Given the description of an element on the screen output the (x, y) to click on. 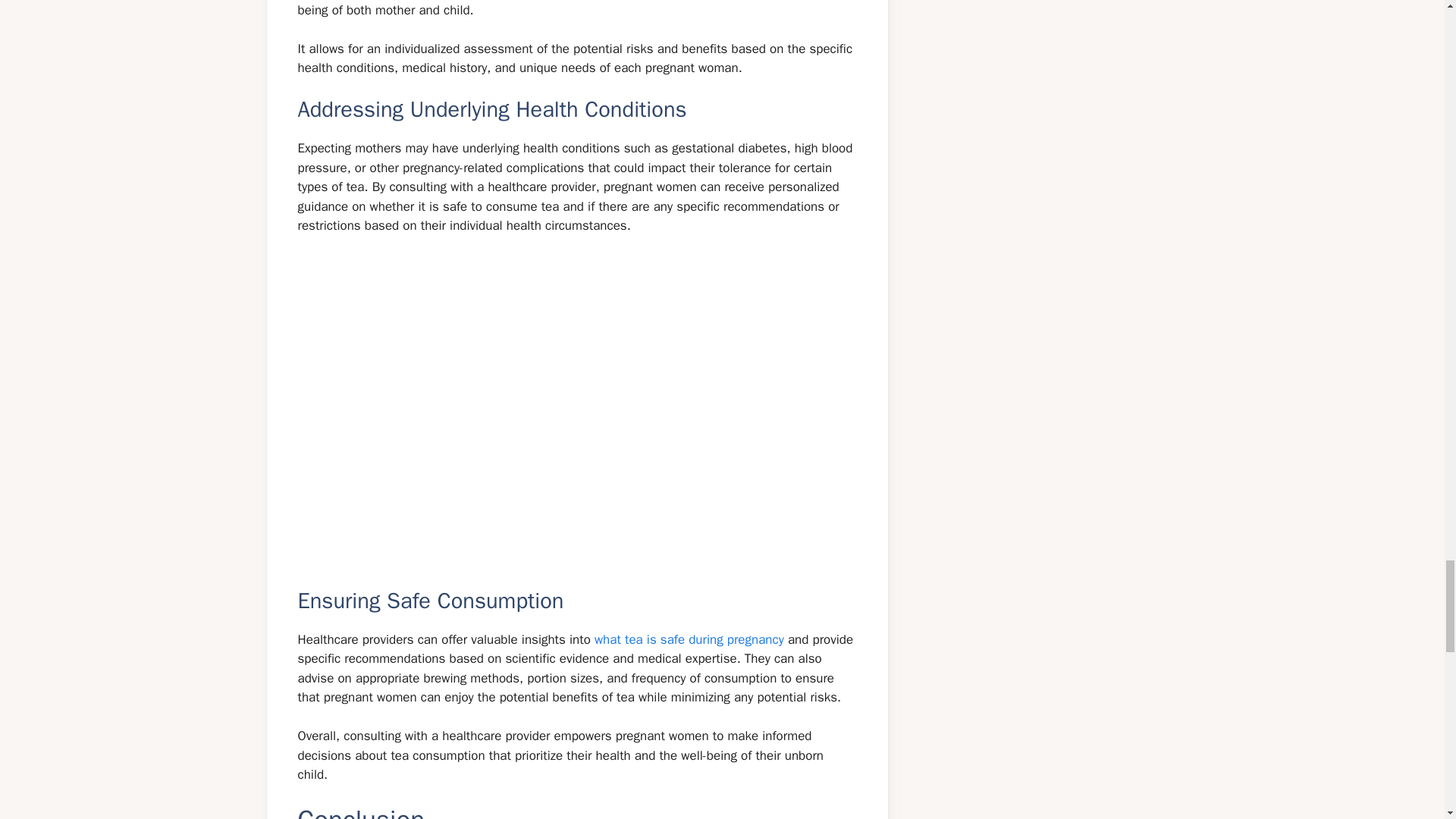
what tea is safe during pregnancy (689, 639)
